Given the description of an element on the screen output the (x, y) to click on. 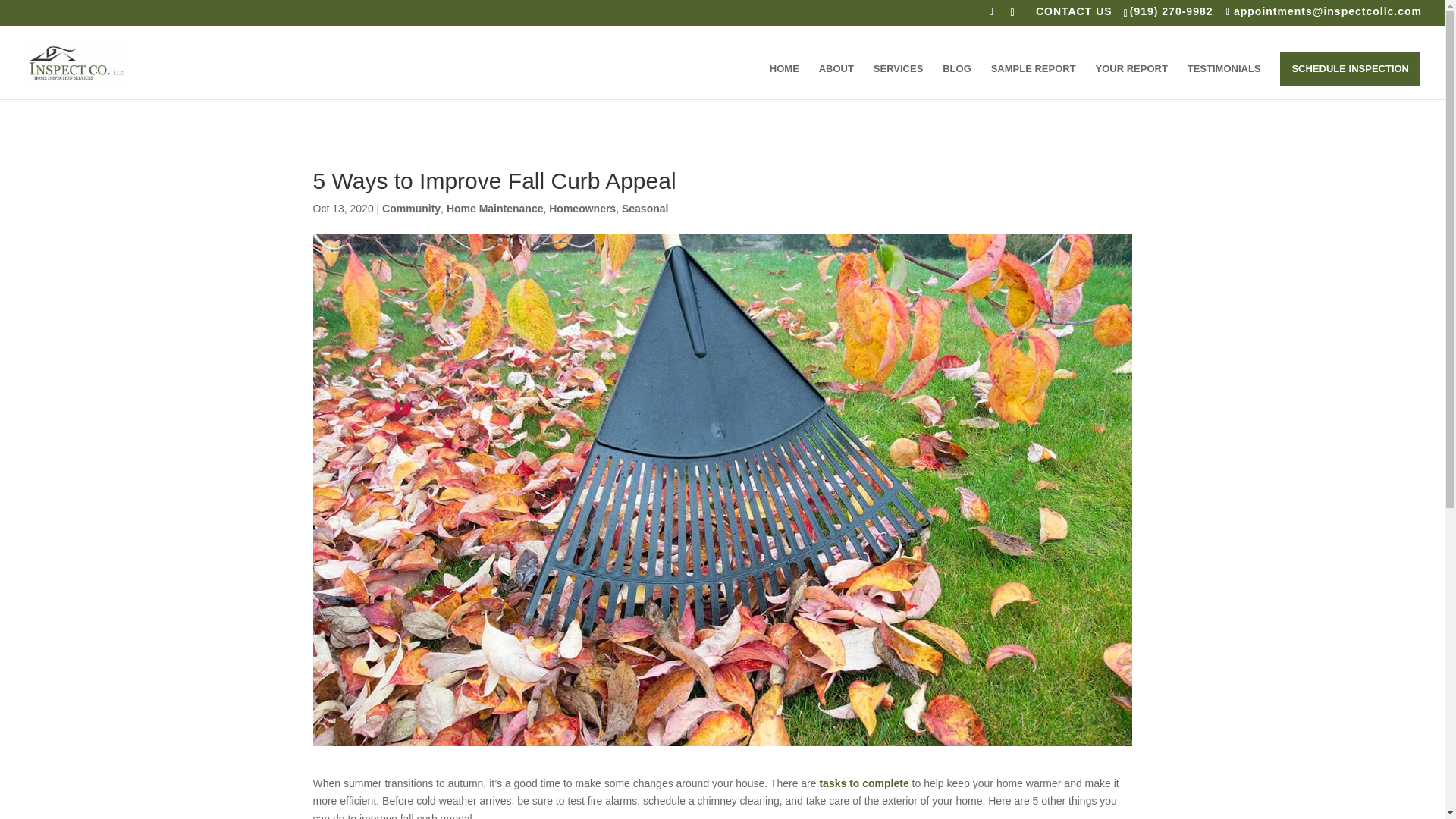
SERVICES (898, 81)
SAMPLE REPORT (1033, 81)
tasks to complete (863, 783)
Homeowners (581, 208)
SCHEDULE INSPECTION (1350, 68)
CONTACT US (1073, 15)
Seasonal (644, 208)
Community (411, 208)
TESTIMONIALS (1224, 81)
ABOUT (835, 81)
Home Maintenance (494, 208)
YOUR REPORT (1131, 81)
